Given the description of an element on the screen output the (x, y) to click on. 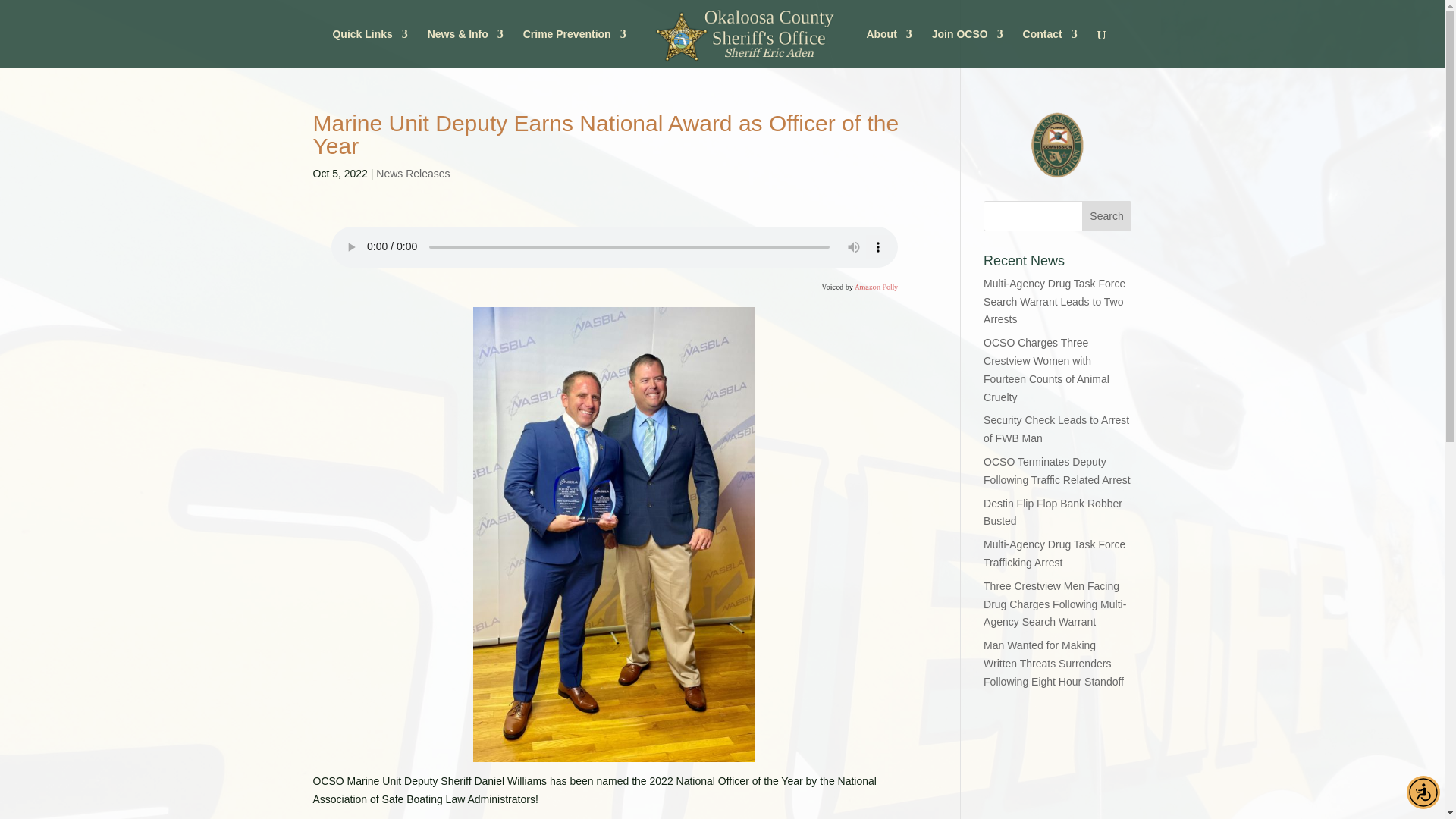
Search (1106, 215)
Accessibility Menu (1422, 792)
Quick Links (369, 47)
Crime Prevention (574, 47)
